Given the description of an element on the screen output the (x, y) to click on. 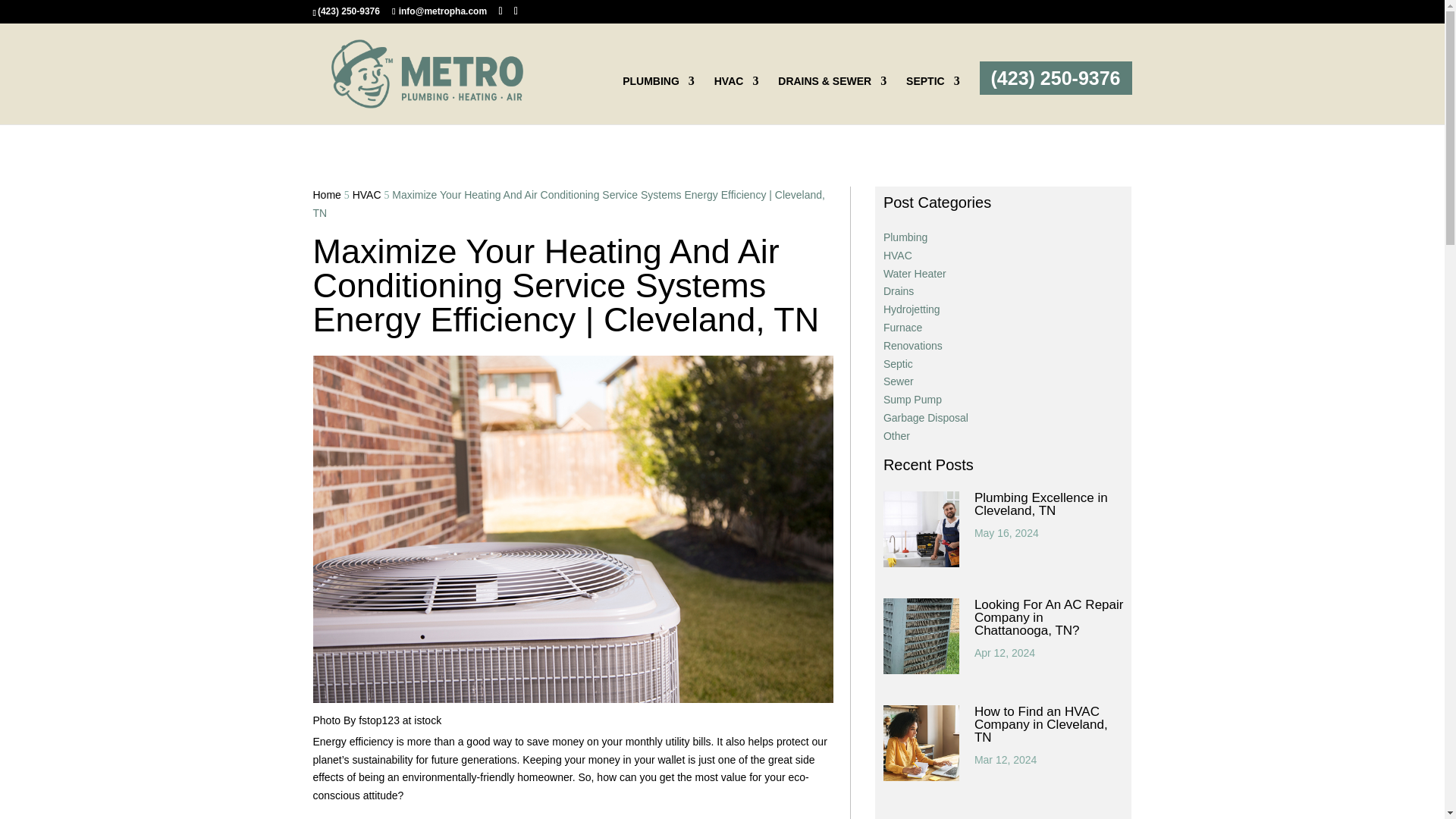
PLUMBING (658, 100)
HVAC (736, 100)
SEPTIC (932, 100)
